Given the description of an element on the screen output the (x, y) to click on. 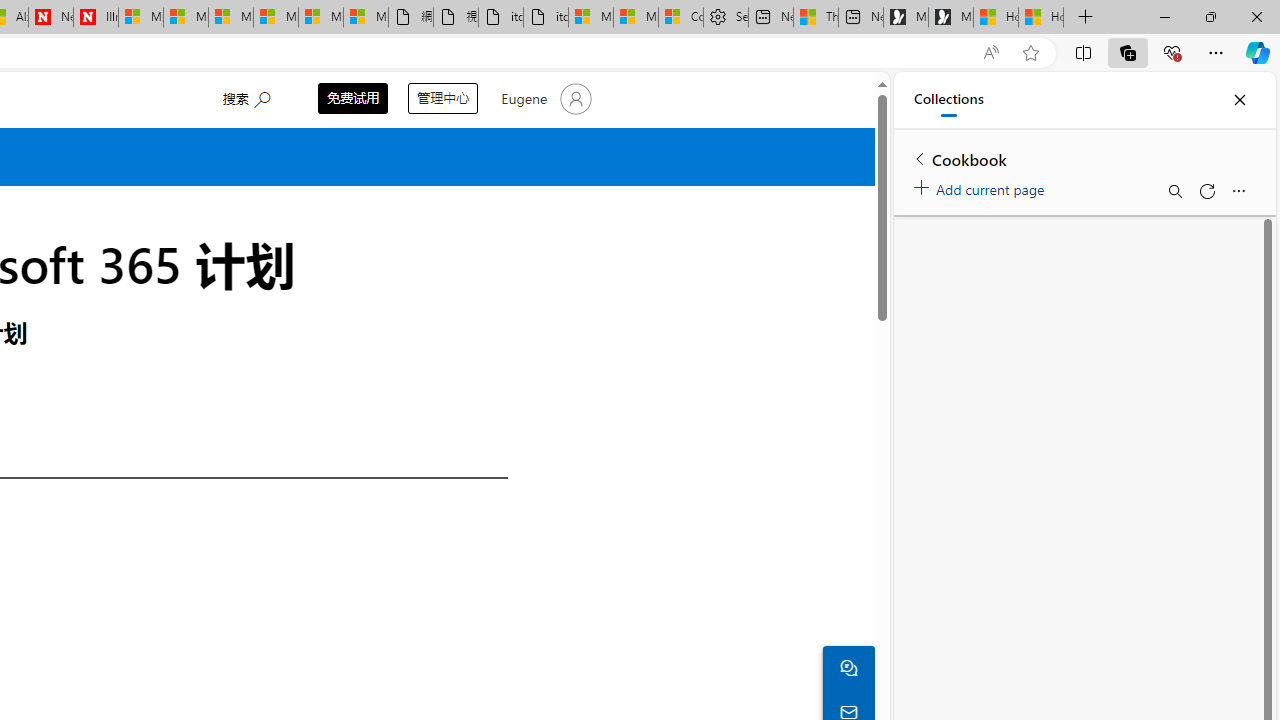
Back to list of collections (920, 158)
itconcepthk.com/projector_solutions.mp4 (545, 17)
Add current page (982, 186)
